Given the description of an element on the screen output the (x, y) to click on. 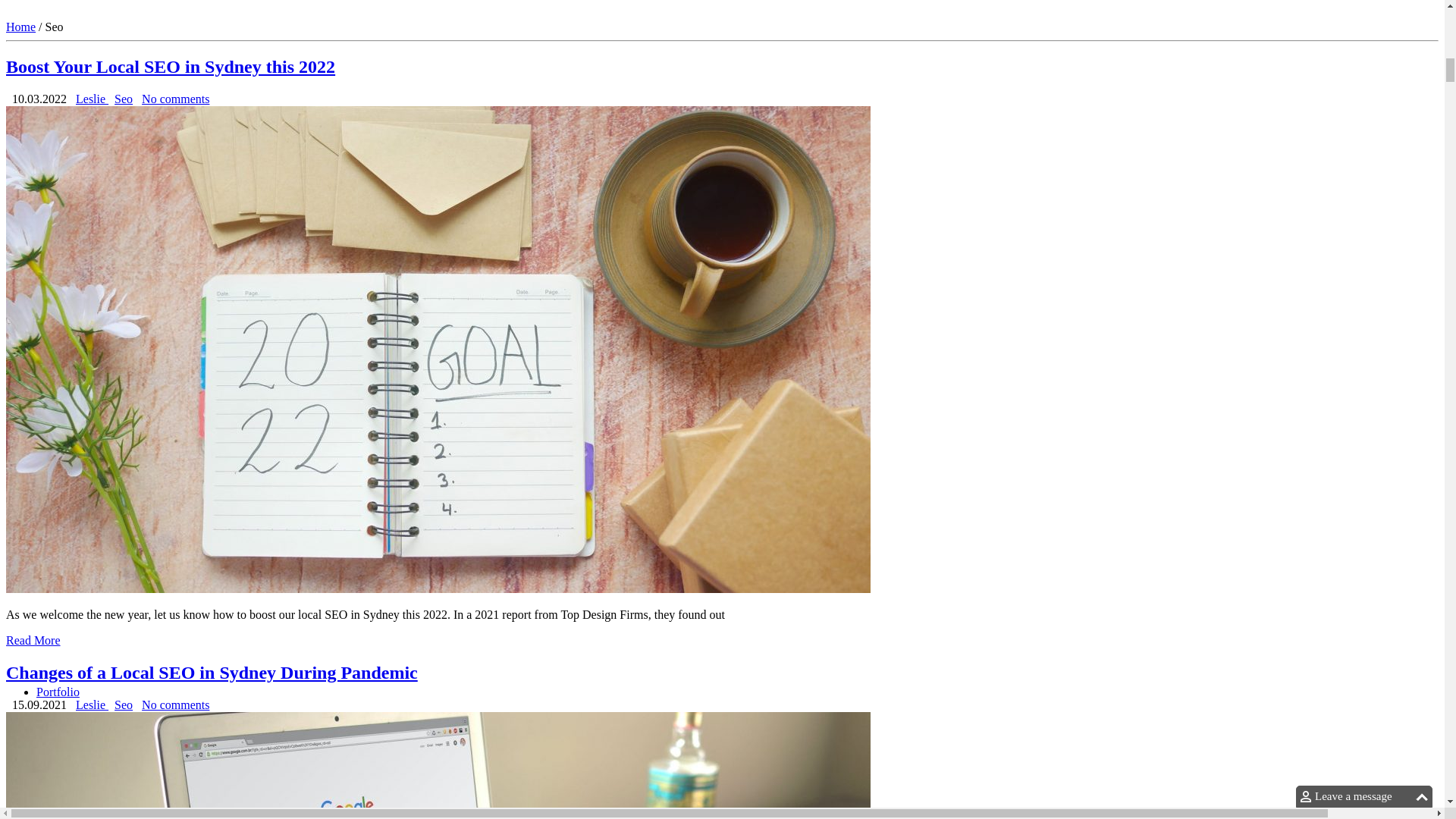
Home (19, 26)
Portfolio (58, 691)
Boost Your Local SEO in Sydney this 2022 (169, 66)
Boost Your Local SEO in Sydney this 2022 (33, 640)
